Given the description of an element on the screen output the (x, y) to click on. 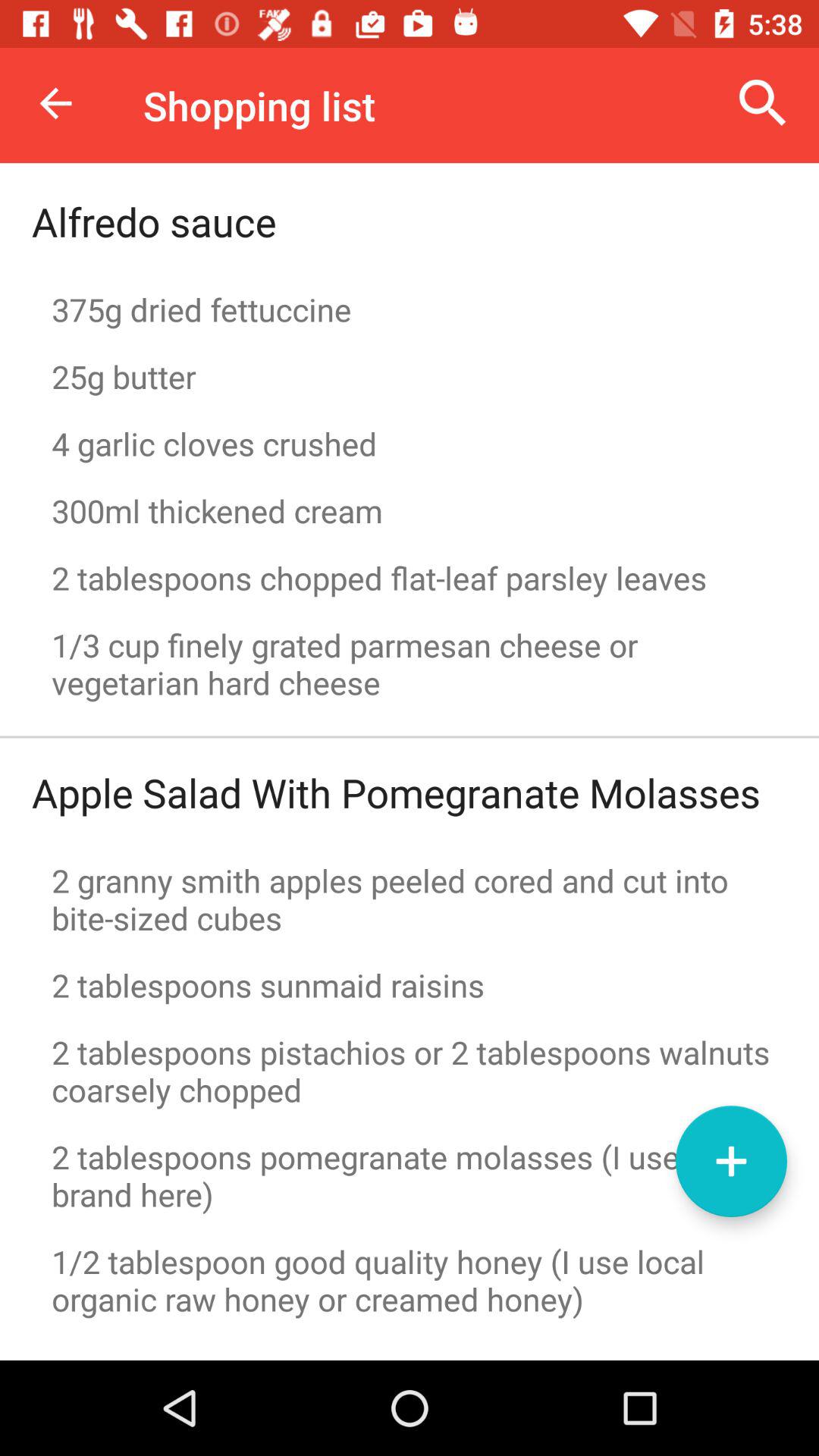
press the icon above the 25g butter (409, 308)
